Given the description of an element on the screen output the (x, y) to click on. 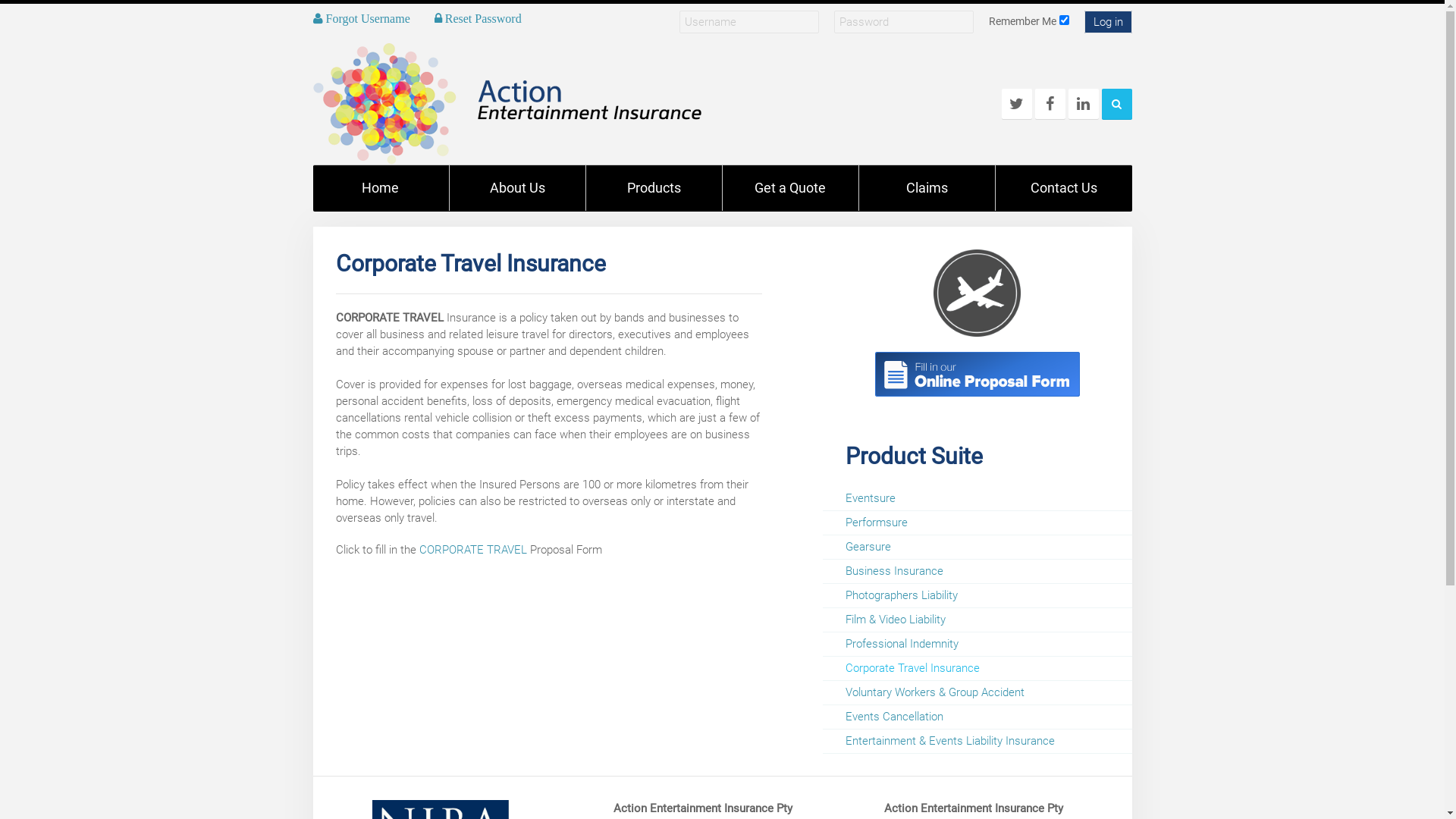
Film & Video Liability Element type: text (976, 619)
Corporate Travel Insurance Element type: hover (977, 373)
Events Cancellation Element type: text (976, 716)
Voluntary Workers & Group Accident Element type: text (976, 692)
Eventsure Element type: text (976, 498)
Performsure Element type: text (976, 522)
Professional Indemnity Element type: text (976, 643)
CORPORATE TRAVEL Element type: text (472, 549)
Get a Quote Element type: text (789, 187)
Corporate Travel Insurance Element type: text (976, 667)
Products Element type: text (653, 187)
Contact Us Element type: text (1062, 187)
Claims Element type: text (926, 187)
About Us Element type: text (516, 187)
Log in Element type: text (1108, 21)
Photographers Liability Element type: text (976, 595)
Forgot Username Element type: text (360, 18)
Reset Password Element type: text (477, 18)
Home Element type: text (380, 187)
Business Insurance Element type: text (976, 570)
Entertainment & Events Liability Insurance Element type: text (976, 740)
Gearsure Element type: text (976, 546)
